Given the description of an element on the screen output the (x, y) to click on. 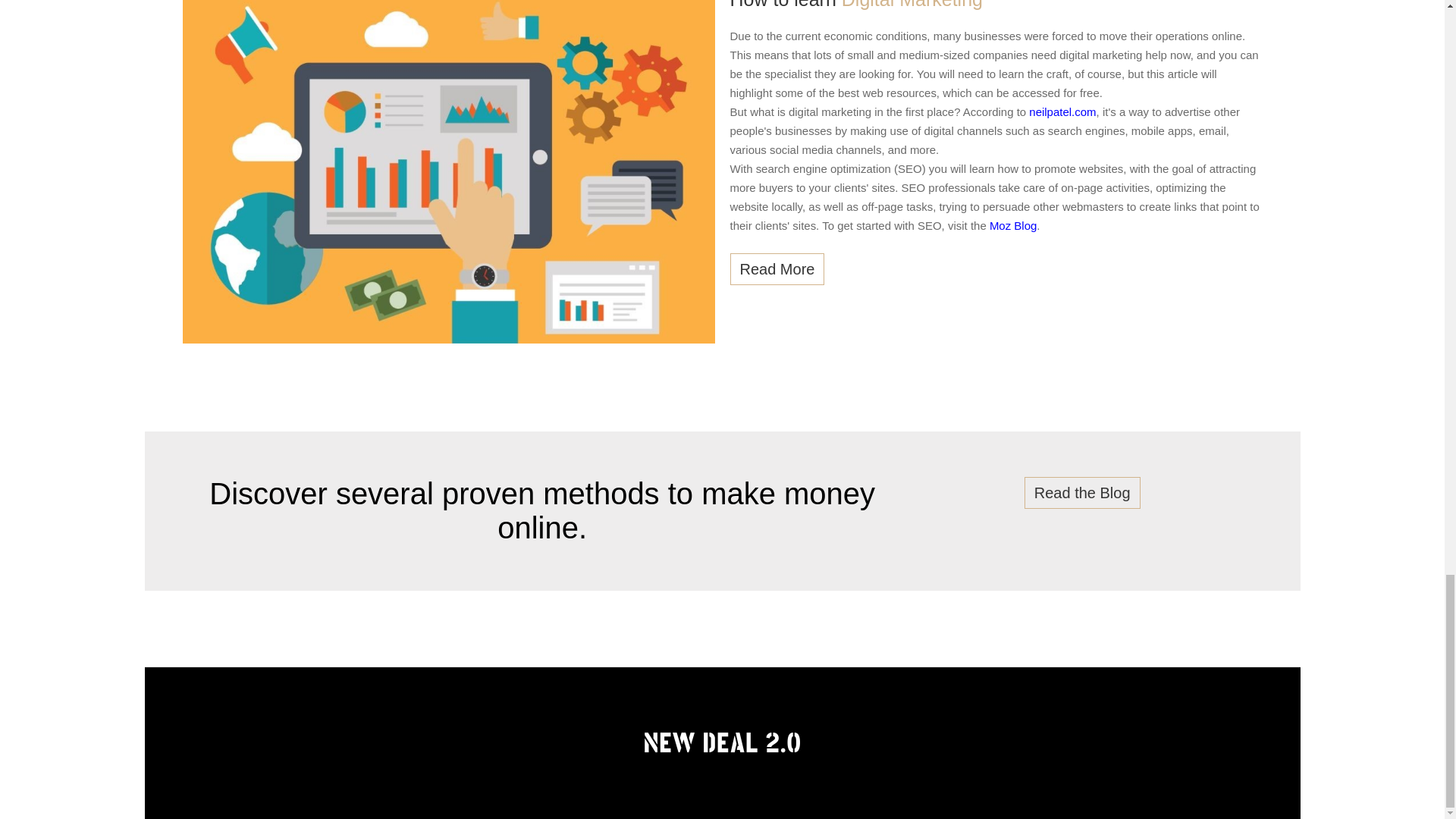
Read the Blog (1082, 492)
neilpatel.com (1062, 110)
Read More (776, 269)
Moz Blog (1013, 224)
